Given the description of an element on the screen output the (x, y) to click on. 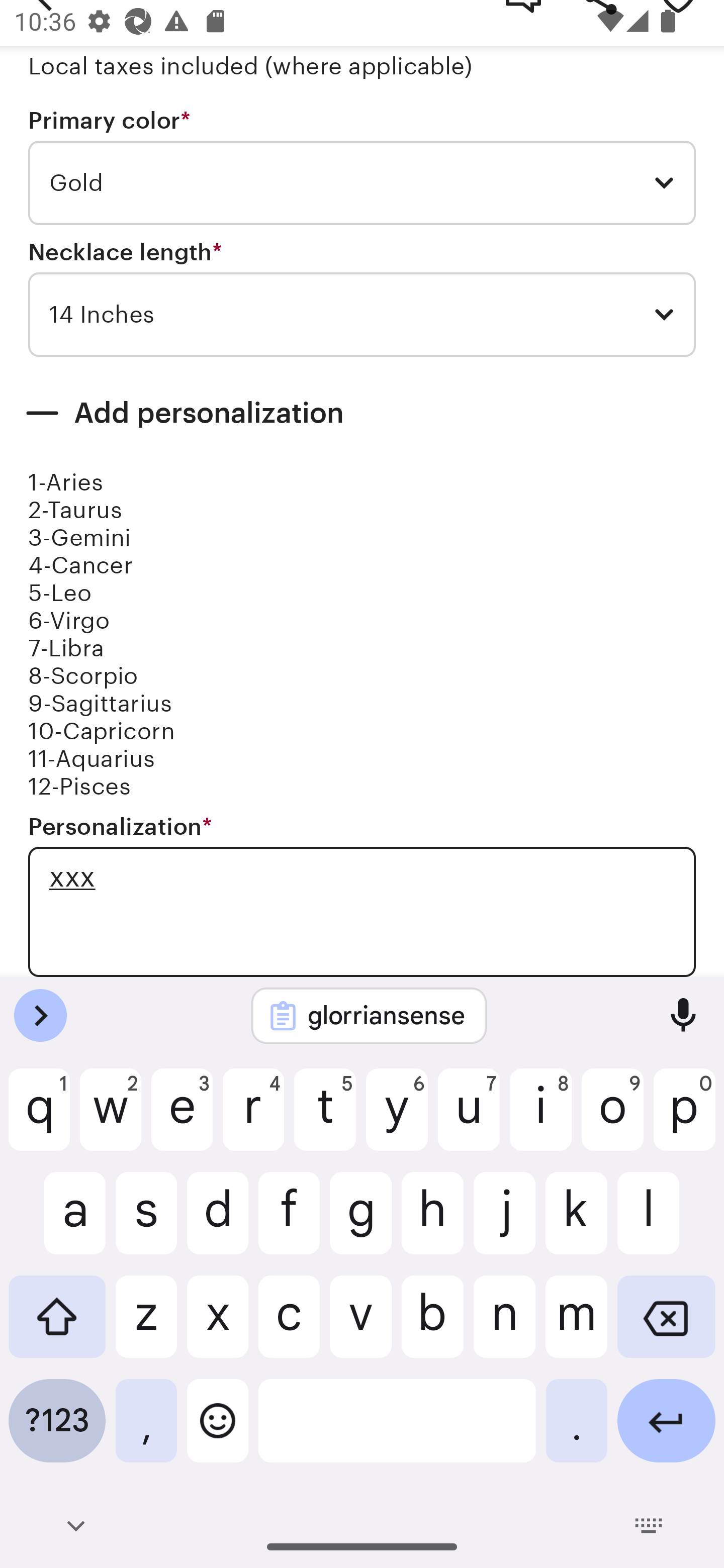
Primary color * Required Gold (361, 166)
Gold (361, 183)
Necklace length * Required 14 Inches (361, 298)
14 Inches (361, 314)
Add personalization Add personalization Required (362, 412)
xxx (361, 911)
